Given the description of an element on the screen output the (x, y) to click on. 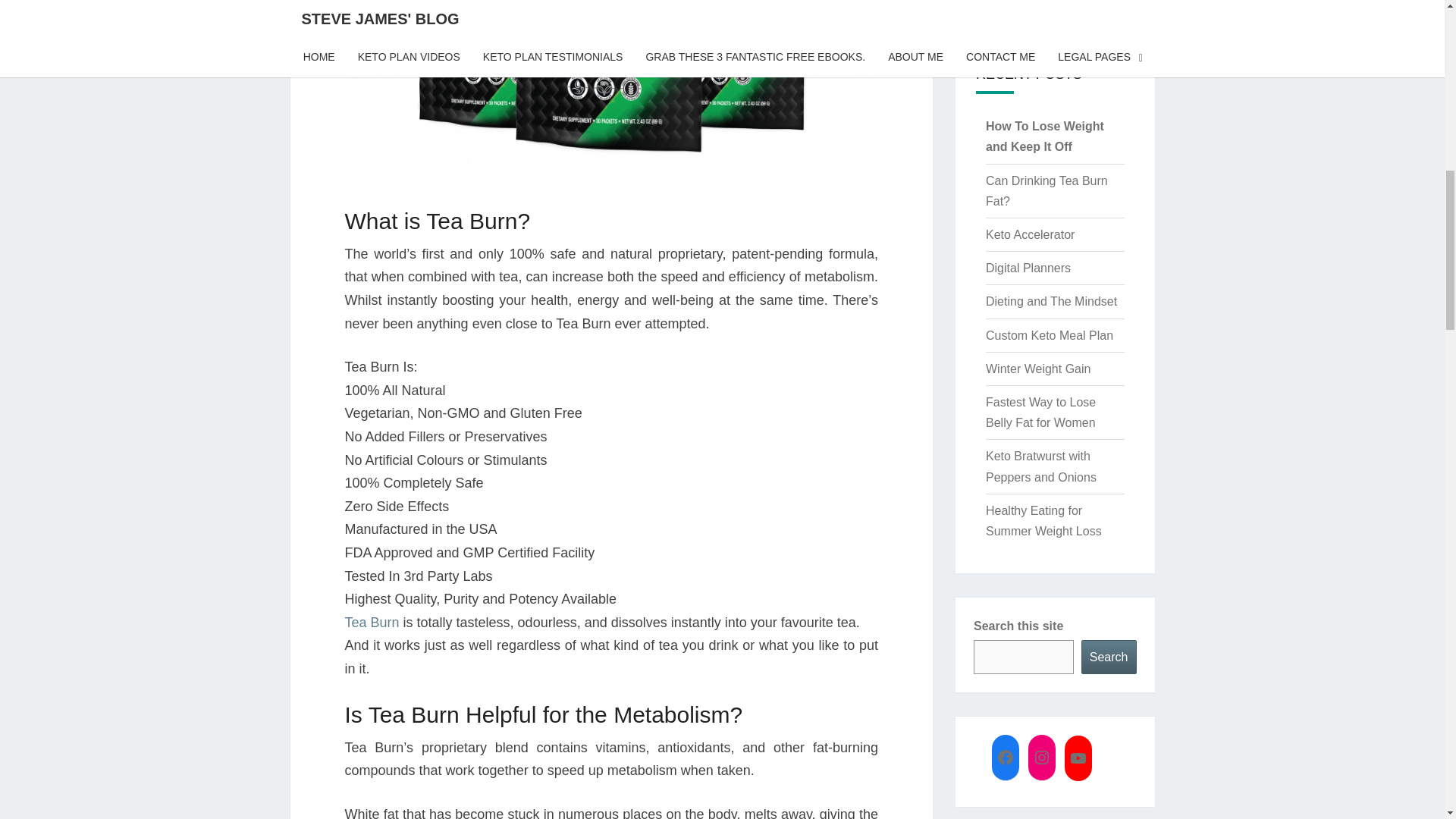
How To Lose Weight and Keep It Off (1044, 136)
Tea Burn (370, 622)
